Given the description of an element on the screen output the (x, y) to click on. 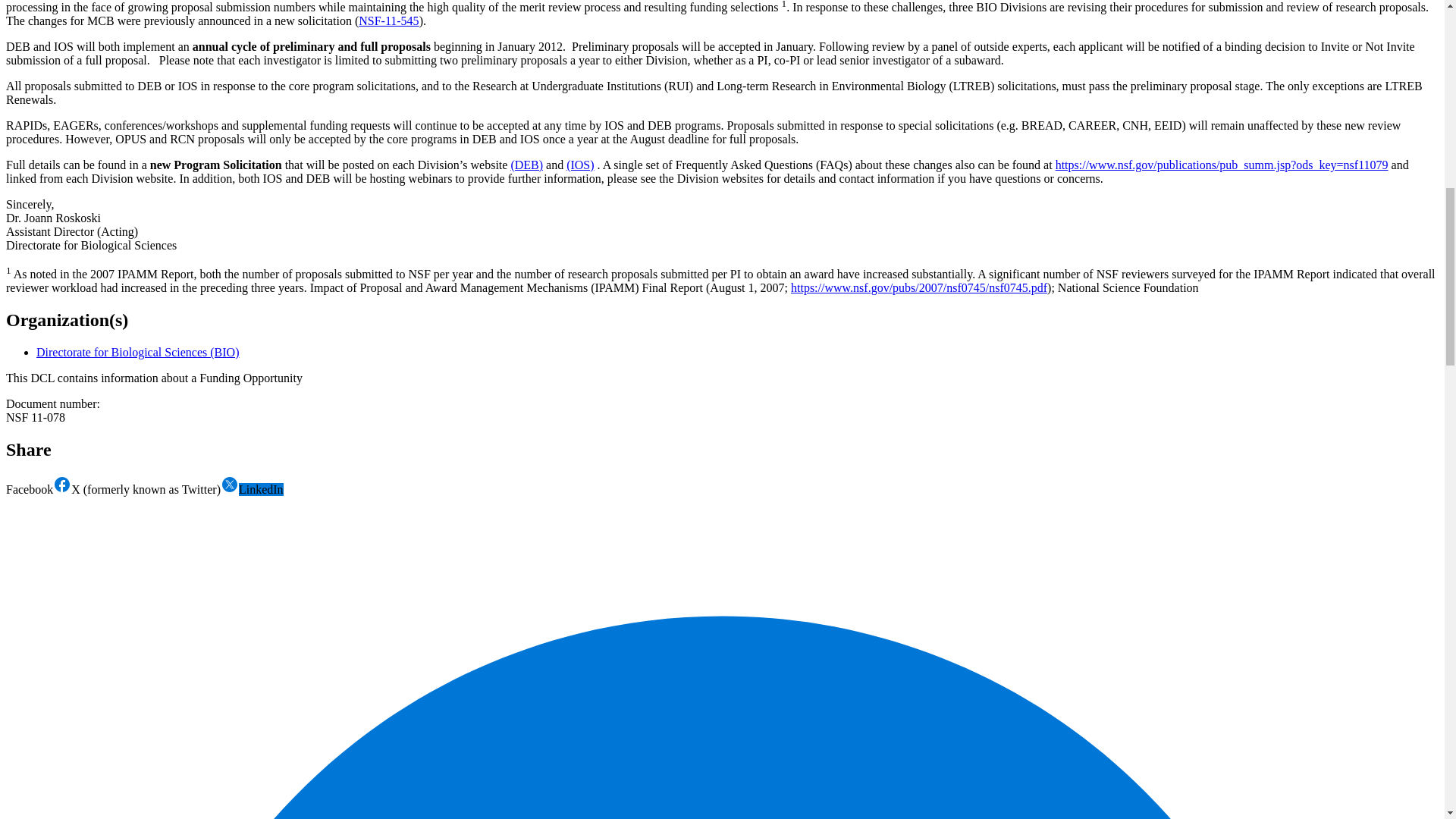
NSF-11-545 (388, 20)
Facebook (38, 489)
